Given the description of an element on the screen output the (x, y) to click on. 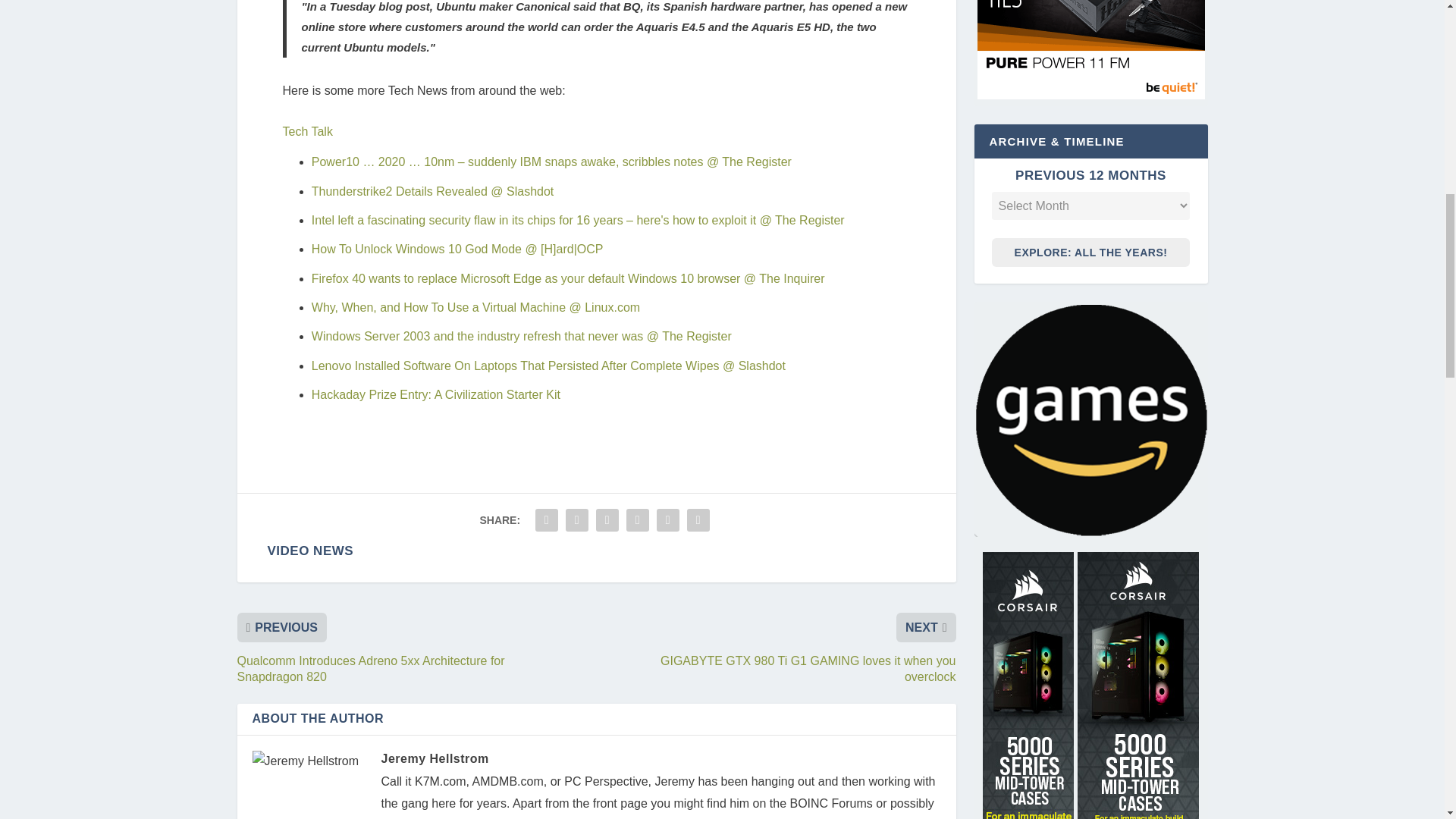
View all posts by Jeremy Hellstrom (433, 758)
